Given the description of an element on the screen output the (x, y) to click on. 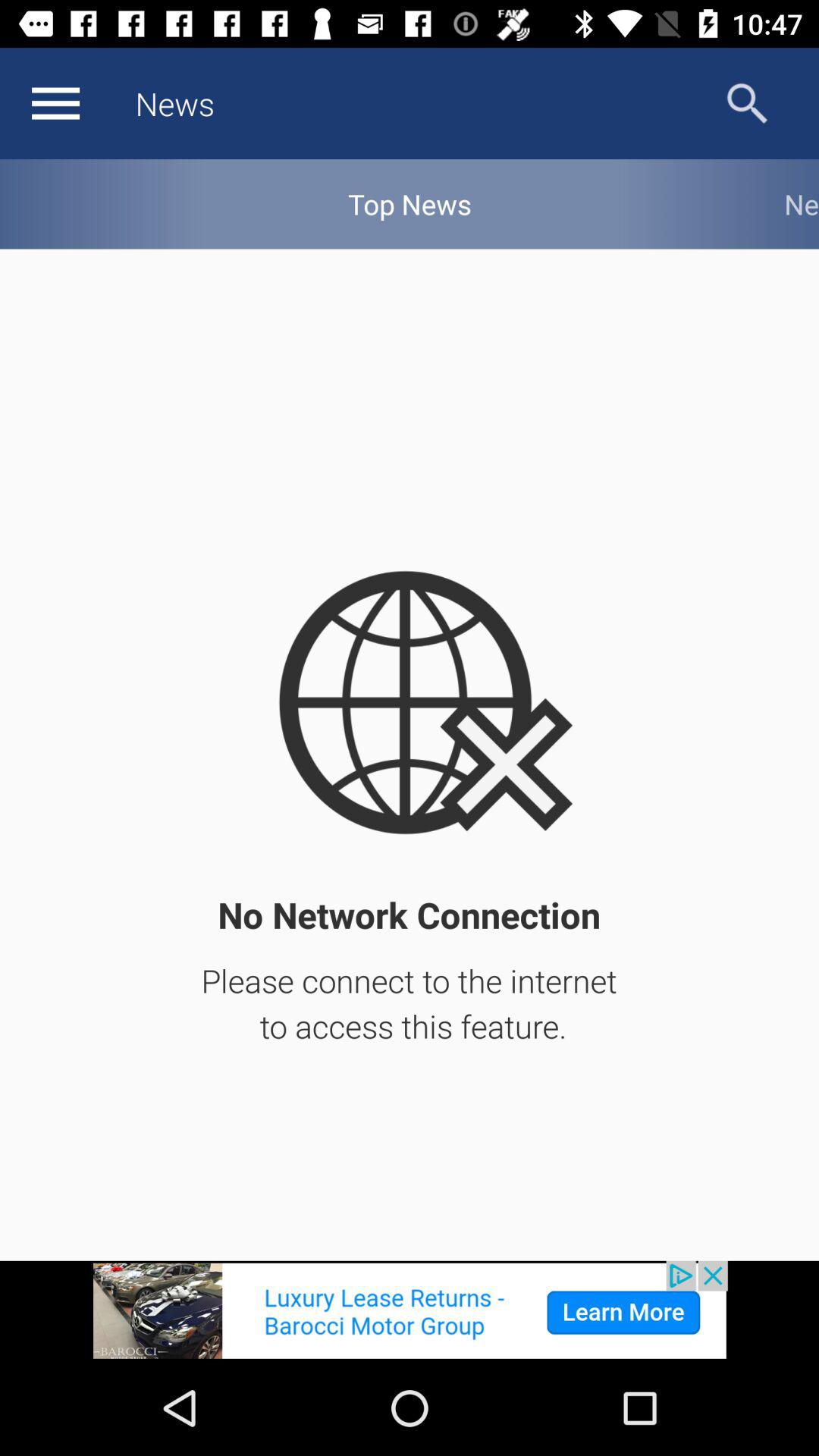
search options (747, 103)
